Given the description of an element on the screen output the (x, y) to click on. 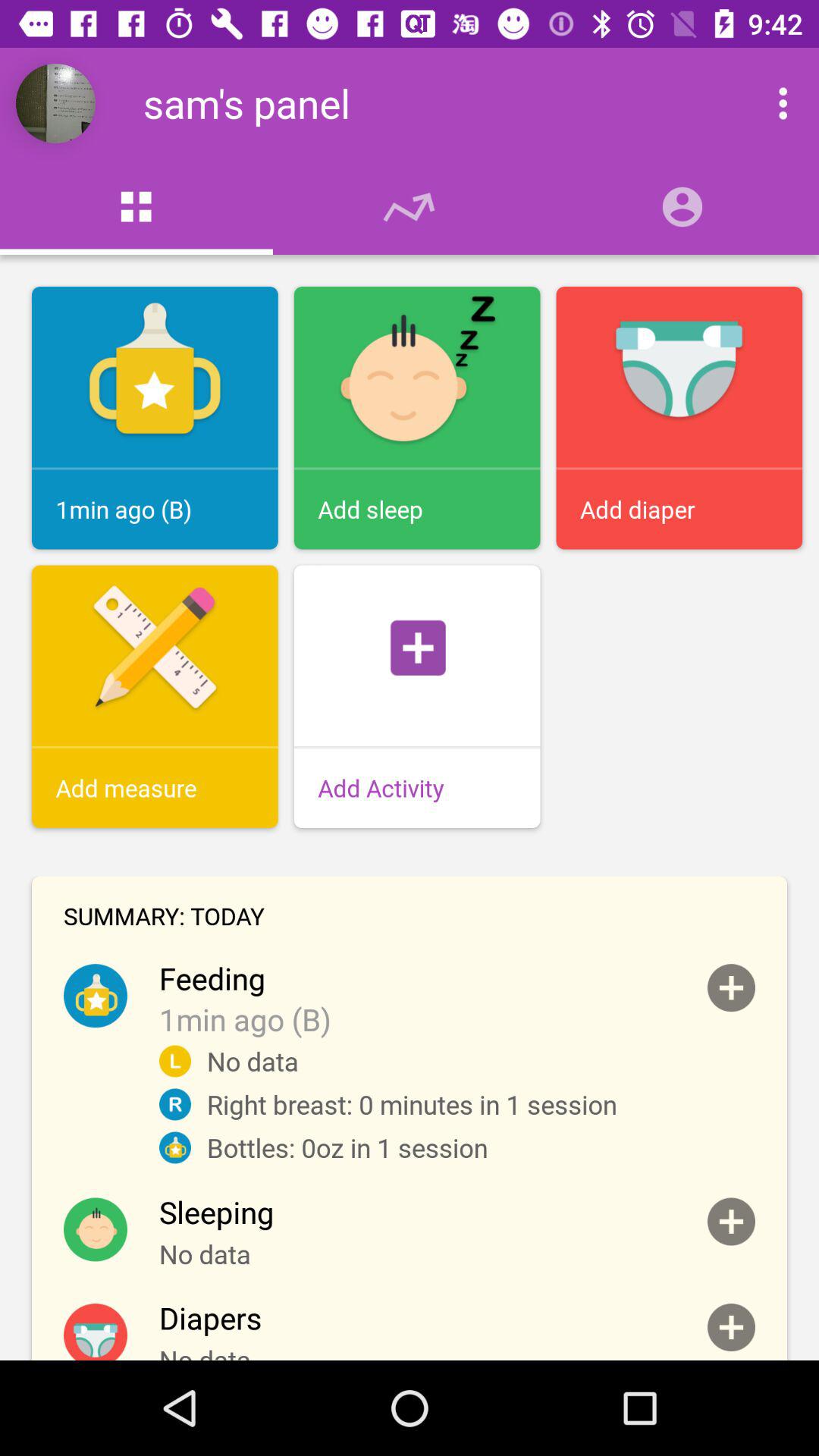
add data (731, 1327)
